Given the description of an element on the screen output the (x, y) to click on. 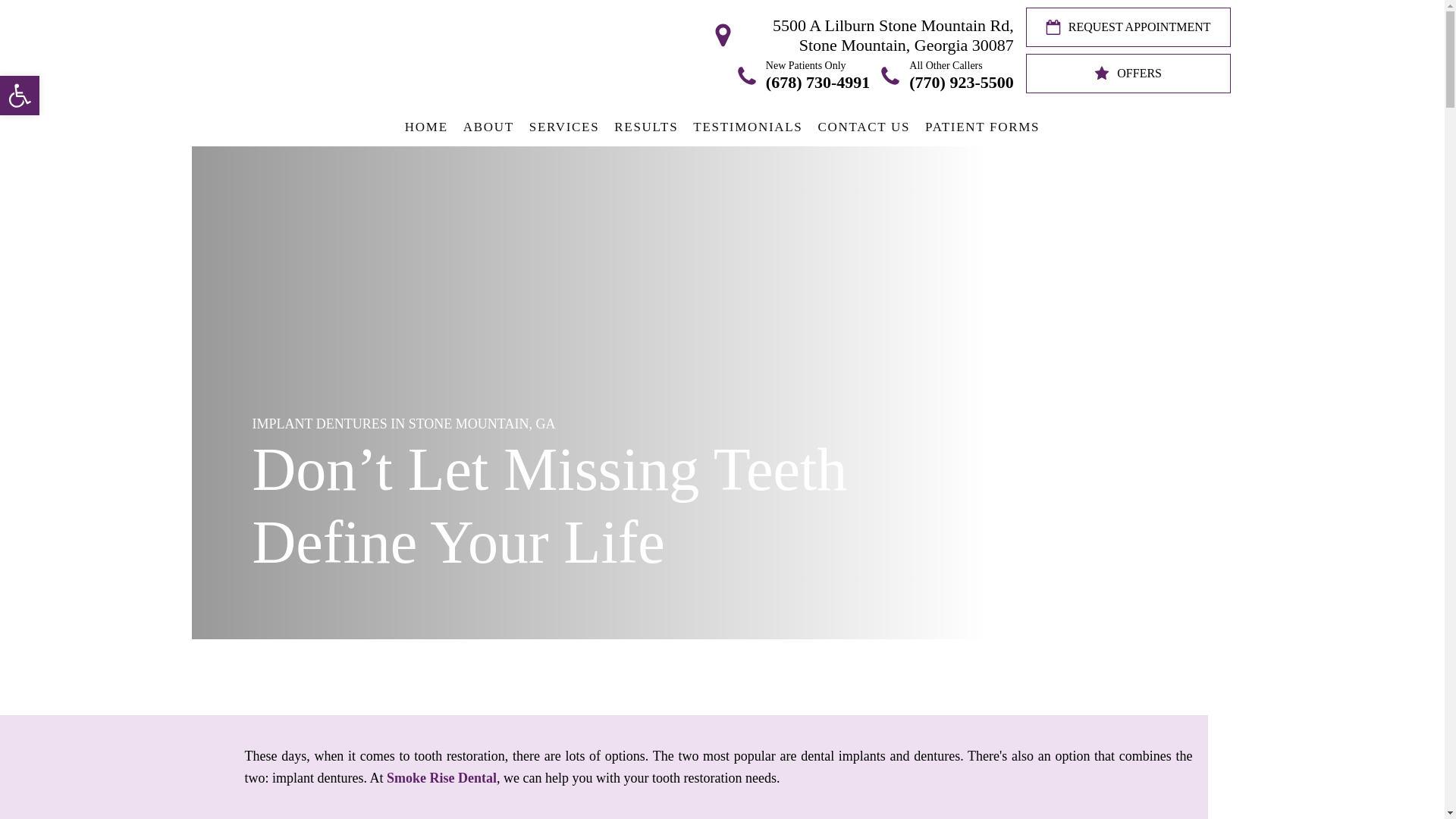
Accessibility Tools (19, 95)
HOME (426, 127)
SERVICES (564, 127)
Accessibility Tools (19, 95)
ABOUT (19, 95)
OFFERS (488, 127)
REQUEST APPOINTMENT (1128, 73)
